Given the description of an element on the screen output the (x, y) to click on. 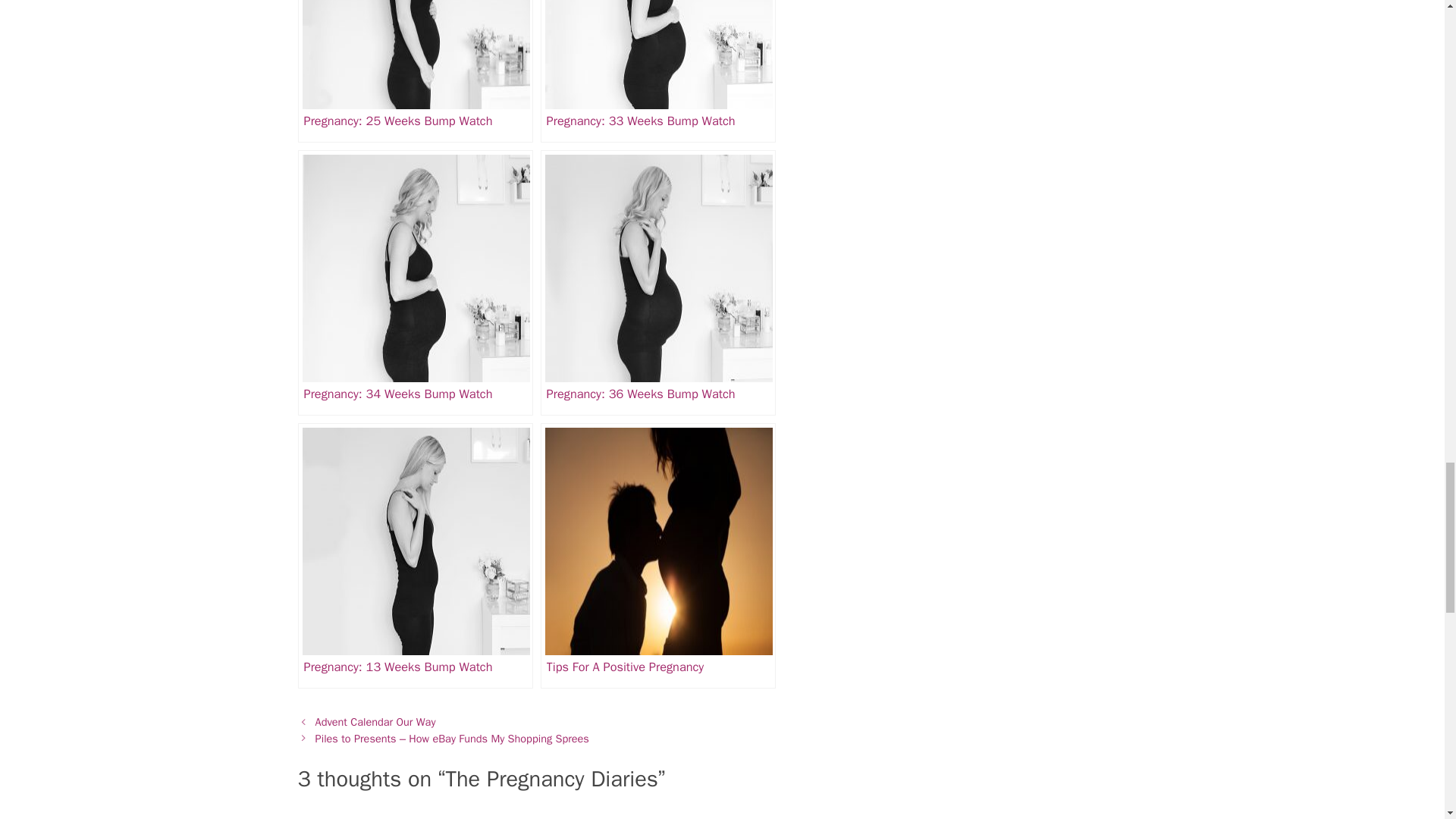
Pregnancy: 25 Weeks Bump Watch (414, 71)
Tips For A Positive Pregnancy (658, 555)
Pregnancy: 33 Weeks Bump Watch (658, 71)
Tips For A Positive Pregnancy (658, 555)
Pregnancy: 36 Weeks Bump Watch (658, 282)
Pregnancy: 36 Weeks Bump Watch (658, 282)
Pregnancy: 25 Weeks Bump Watch (414, 71)
Pregnancy: 33 Weeks Bump Watch (658, 71)
Pregnancy: 34 Weeks Bump Watch (414, 282)
Pregnancy: 13 Weeks Bump Watch (414, 555)
Pregnancy: 34 Weeks Bump Watch (414, 282)
Advent Calendar Our Way (375, 721)
Pregnancy: 13 Weeks Bump Watch (414, 555)
